Given the description of an element on the screen output the (x, y) to click on. 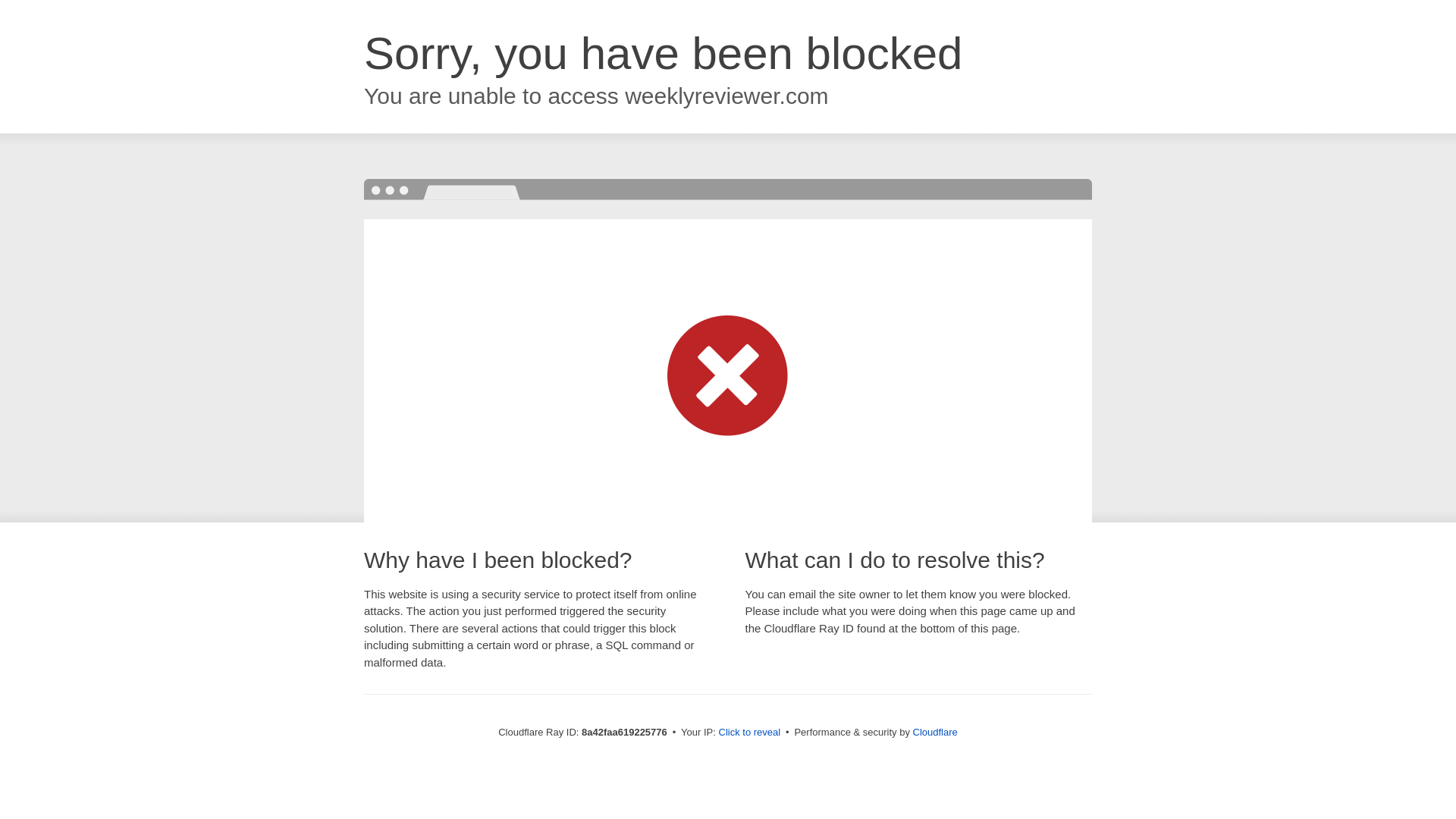
Click to reveal (749, 732)
Cloudflare (935, 731)
